Given the description of an element on the screen output the (x, y) to click on. 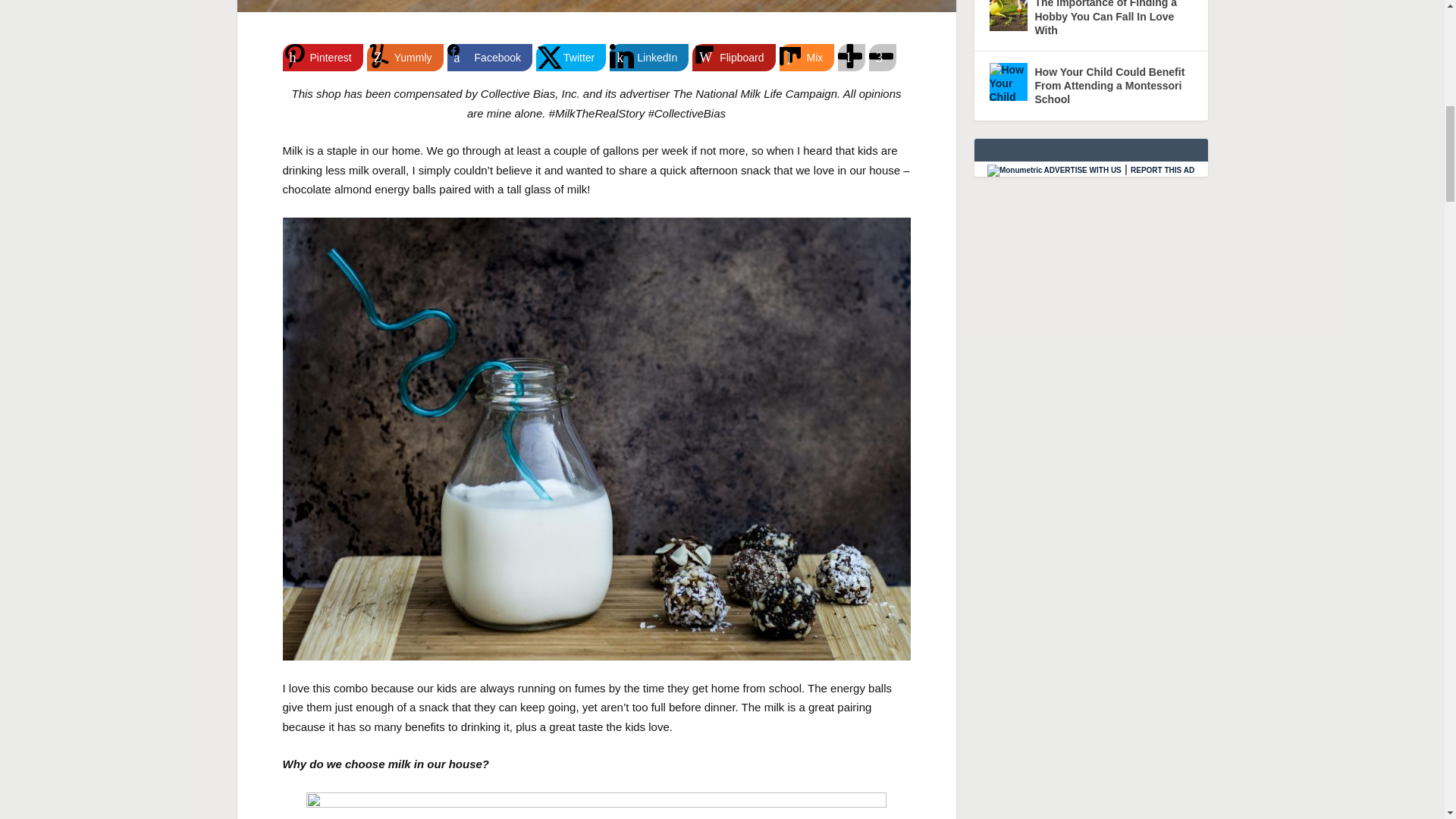
Flipboard (733, 57)
Share on Yummly (405, 57)
Share on More Button (851, 57)
Share on Pinterest (322, 57)
LinkedIn (649, 57)
Share on LinkedIn (649, 57)
Twitter (570, 57)
Pinterest (322, 57)
Yummly (405, 57)
Share on Facebook (489, 57)
Mix (806, 57)
Share on Mix (806, 57)
Share on Twitter (570, 57)
Facebook (489, 57)
Share on Flipboard (733, 57)
